Given the description of an element on the screen output the (x, y) to click on. 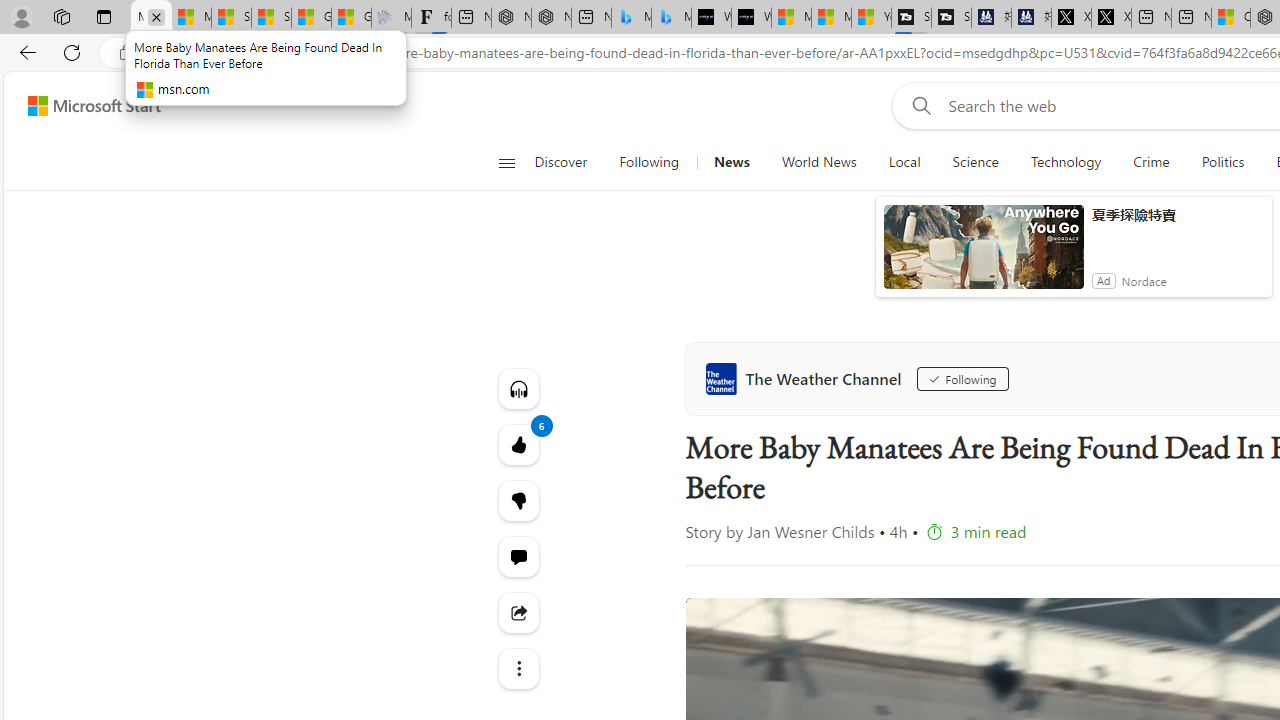
X (1111, 17)
Gilma and Hector both pose tropical trouble for Hawaii (351, 17)
Science (975, 162)
Listen to this article (517, 388)
News (731, 162)
Local (903, 162)
Share this story (517, 612)
The Weather Channel (807, 378)
Class: button-glyph (505, 162)
Technology (1066, 162)
